Given the description of an element on the screen output the (x, y) to click on. 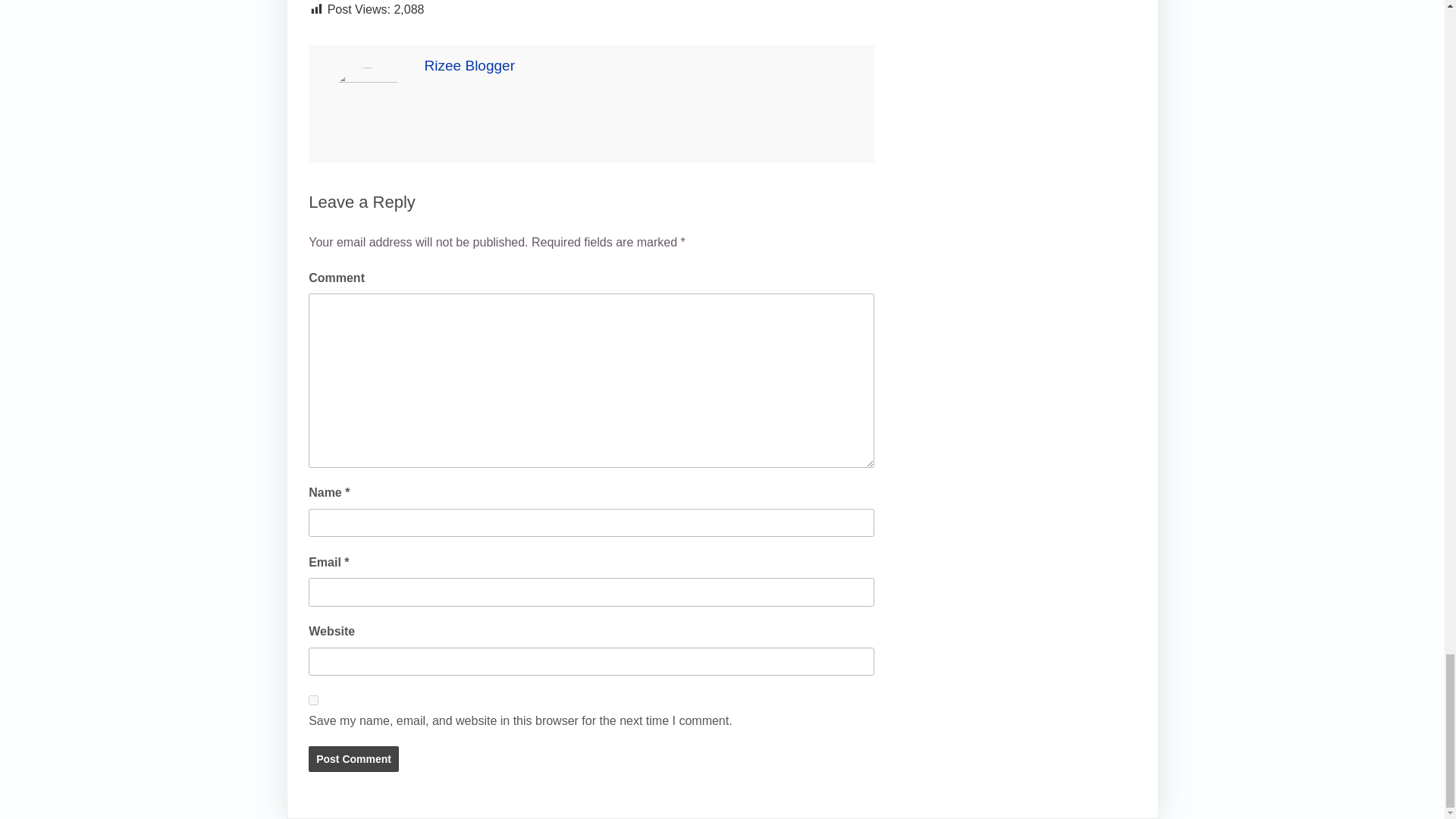
Rizee Blogger (470, 65)
Post Comment (353, 759)
yes (313, 700)
Post Comment (353, 759)
